Given the description of an element on the screen output the (x, y) to click on. 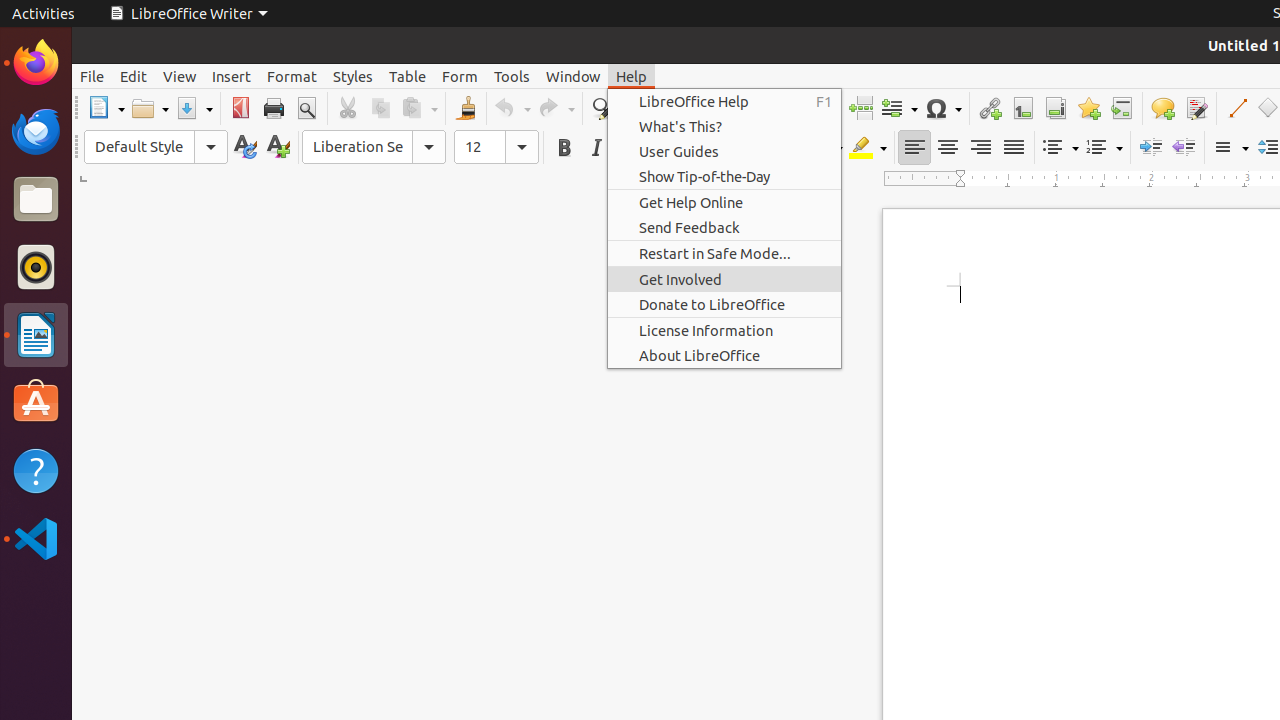
Cut Element type: push-button (347, 108)
Paragraph Style Element type: combo-box (156, 147)
What's This? Element type: menu-item (724, 126)
Highlight Color Element type: push-button (868, 147)
Cross-reference Element type: push-button (1121, 108)
